Given the description of an element on the screen output the (x, y) to click on. 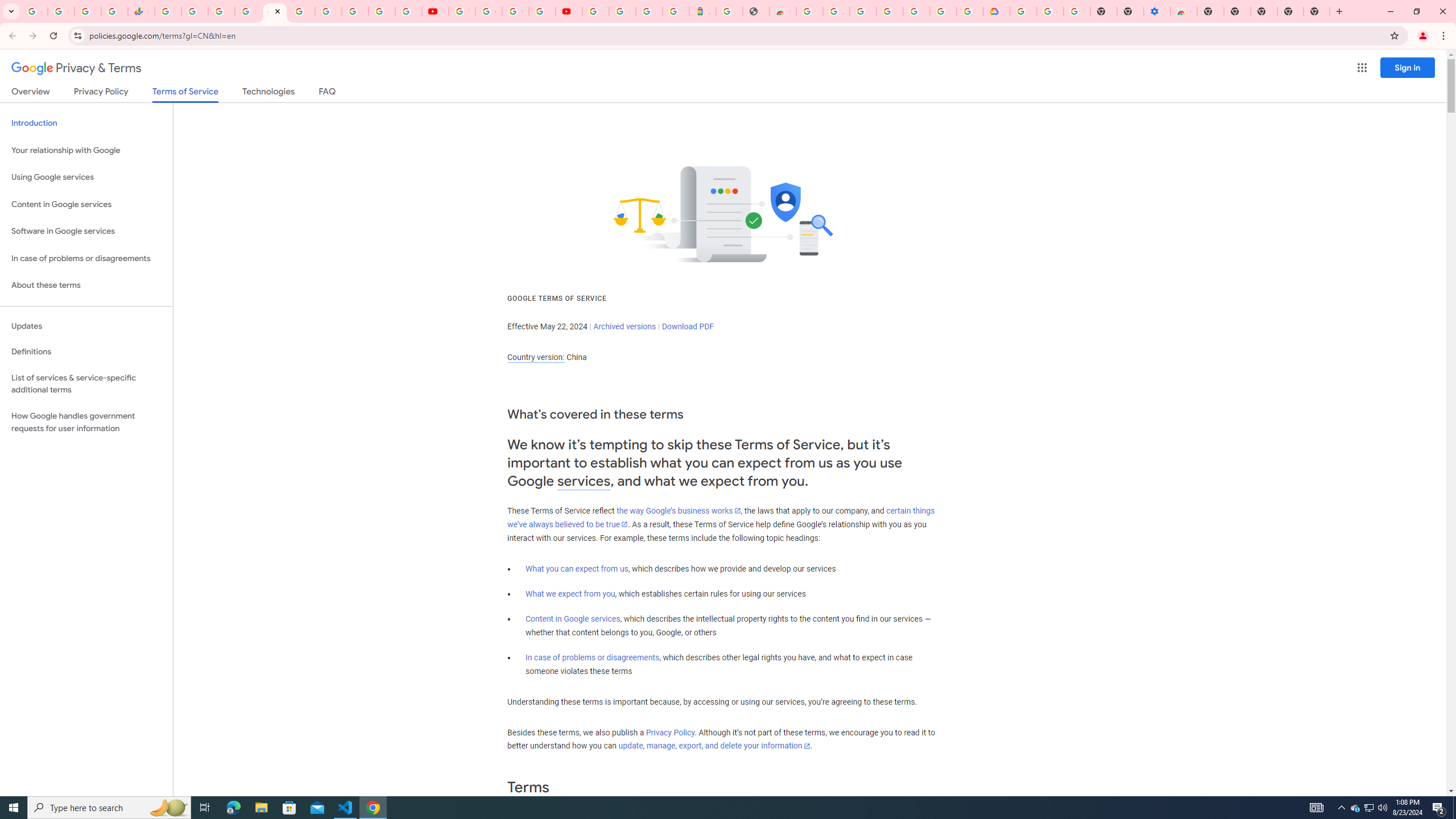
Chrome Web Store - Accessibility extensions (1183, 11)
Content Creator Programs & Opportunities - YouTube Creators (569, 11)
Using Google services (86, 176)
New Tab (1210, 11)
